Given the description of an element on the screen output the (x, y) to click on. 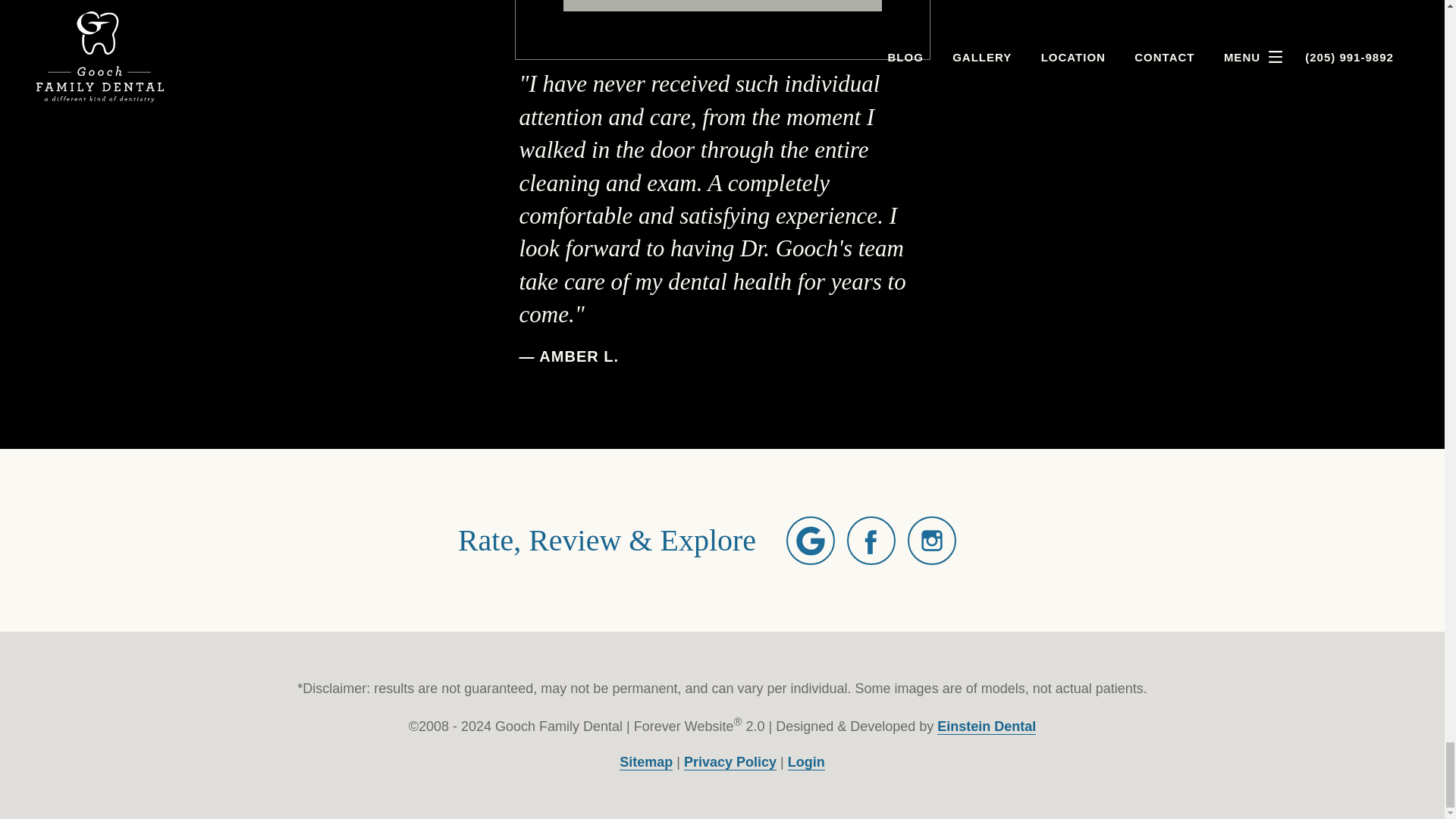
Google (810, 540)
Facebook (871, 540)
Instagram (931, 540)
